Given the description of an element on the screen output the (x, y) to click on. 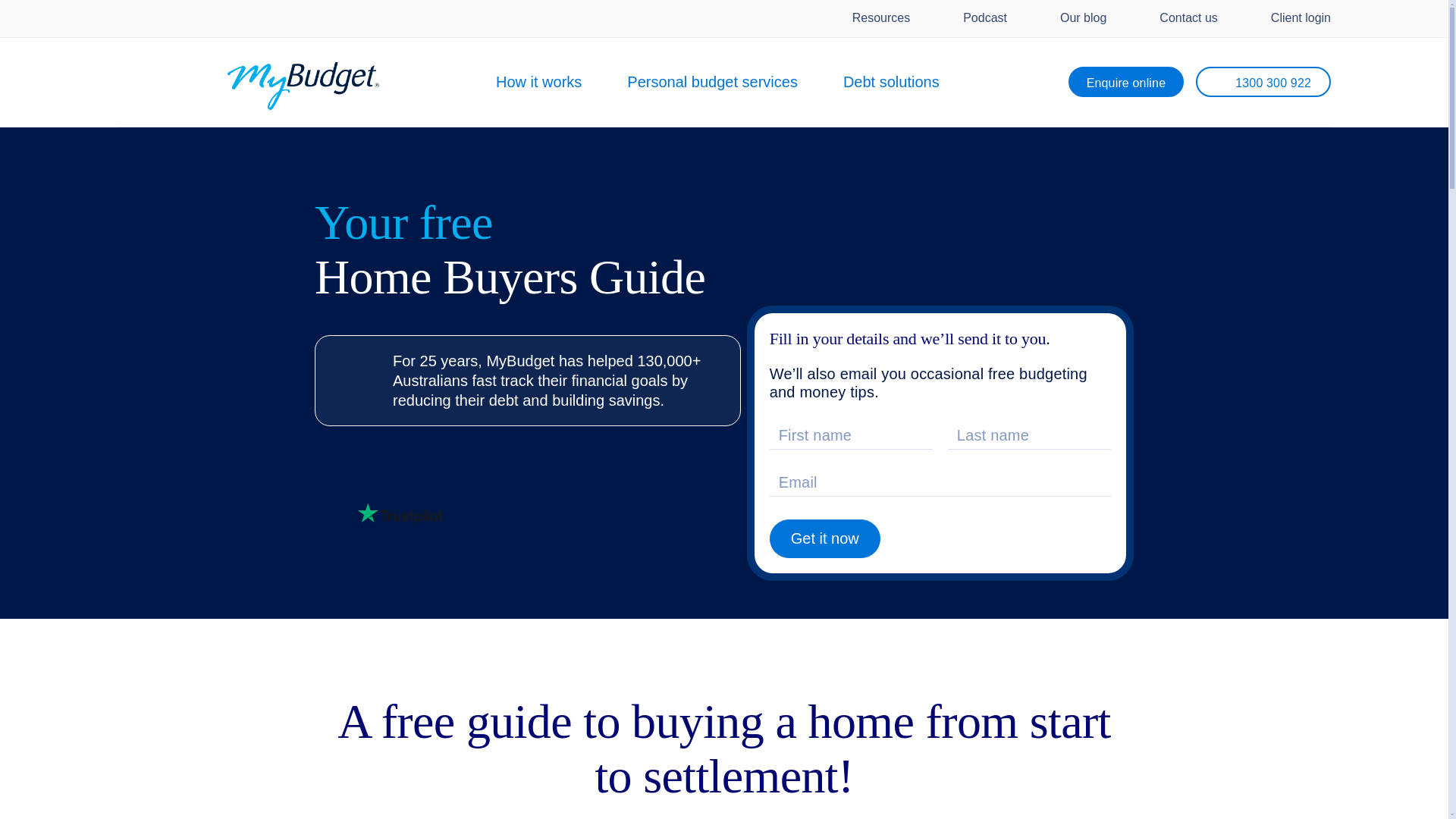
Contact us (1177, 17)
How it works (538, 81)
Customer reviews powered by Trustpilot (399, 513)
Podcast (973, 17)
Personal budget services (712, 81)
Search (1095, 155)
mb-logo (302, 85)
1300 300 922 (1262, 81)
Our blog (1071, 17)
Enquire online (1126, 81)
